Given the description of an element on the screen output the (x, y) to click on. 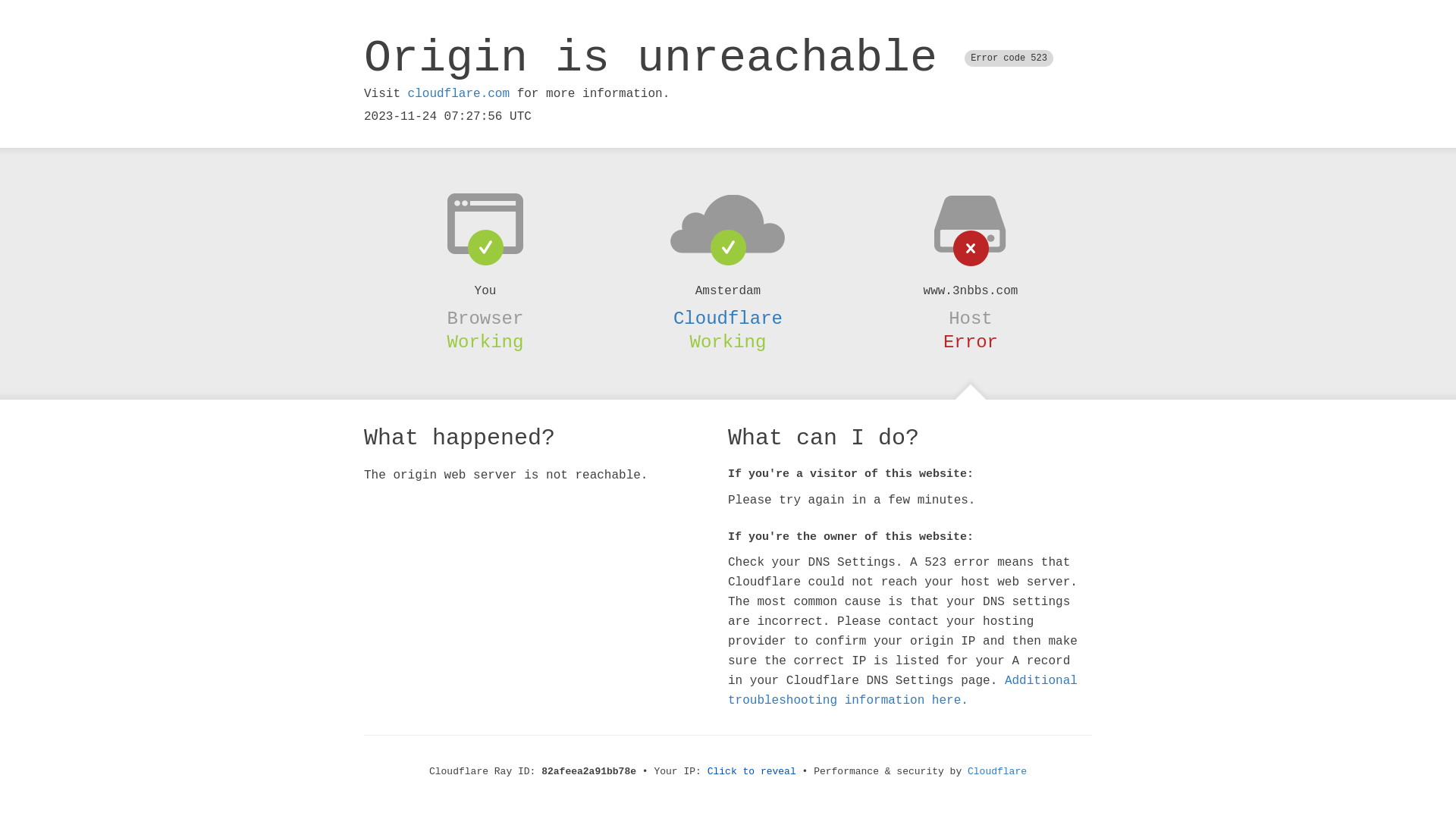
Additional troubleshooting information here. Element type: text (902, 690)
Cloudflare Element type: text (996, 771)
Click to reveal Element type: text (751, 771)
Cloudflare Element type: text (727, 318)
cloudflare.com Element type: text (458, 93)
